Given the description of an element on the screen output the (x, y) to click on. 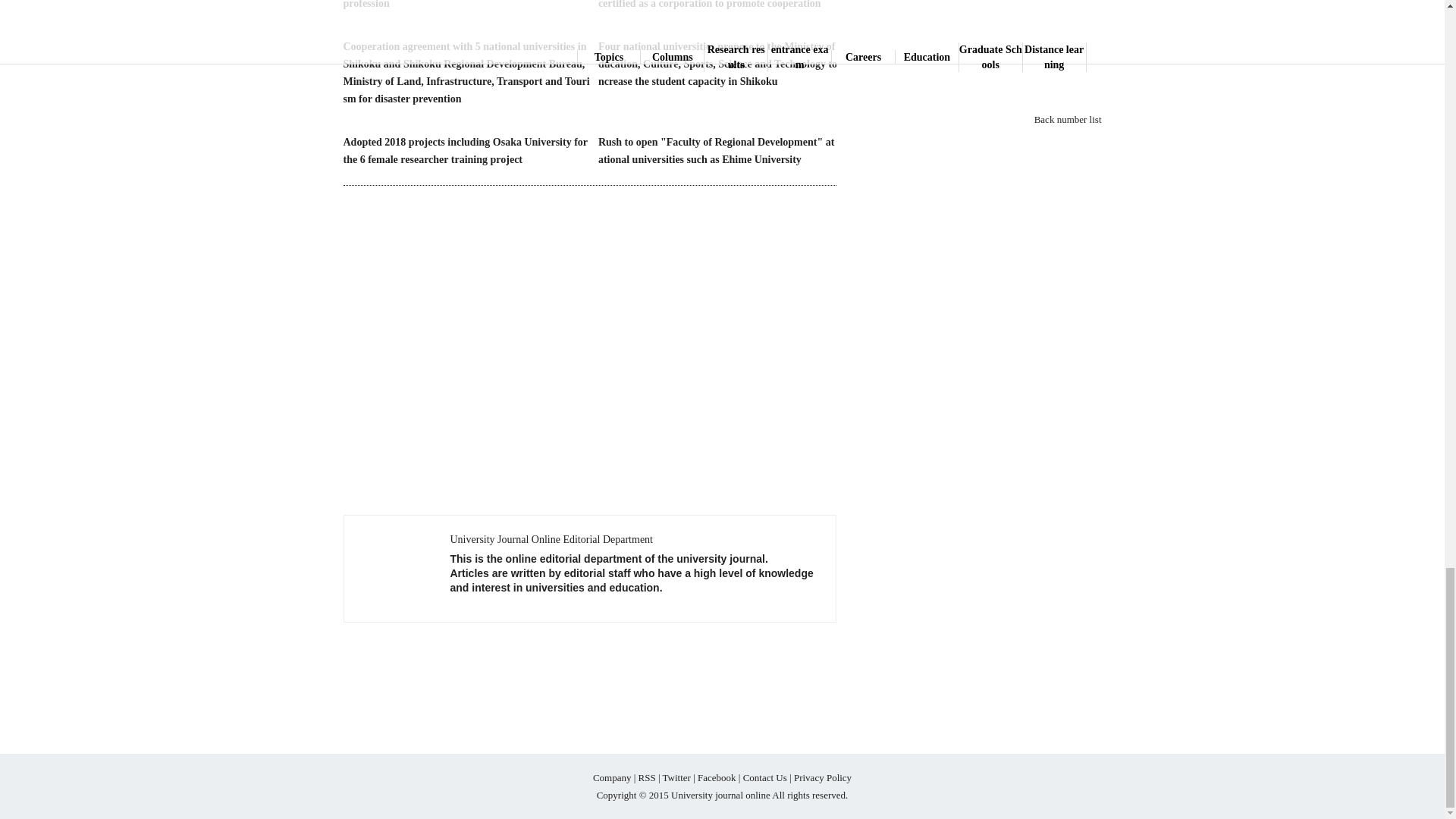
Advertisement (590, 678)
